Given the description of an element on the screen output the (x, y) to click on. 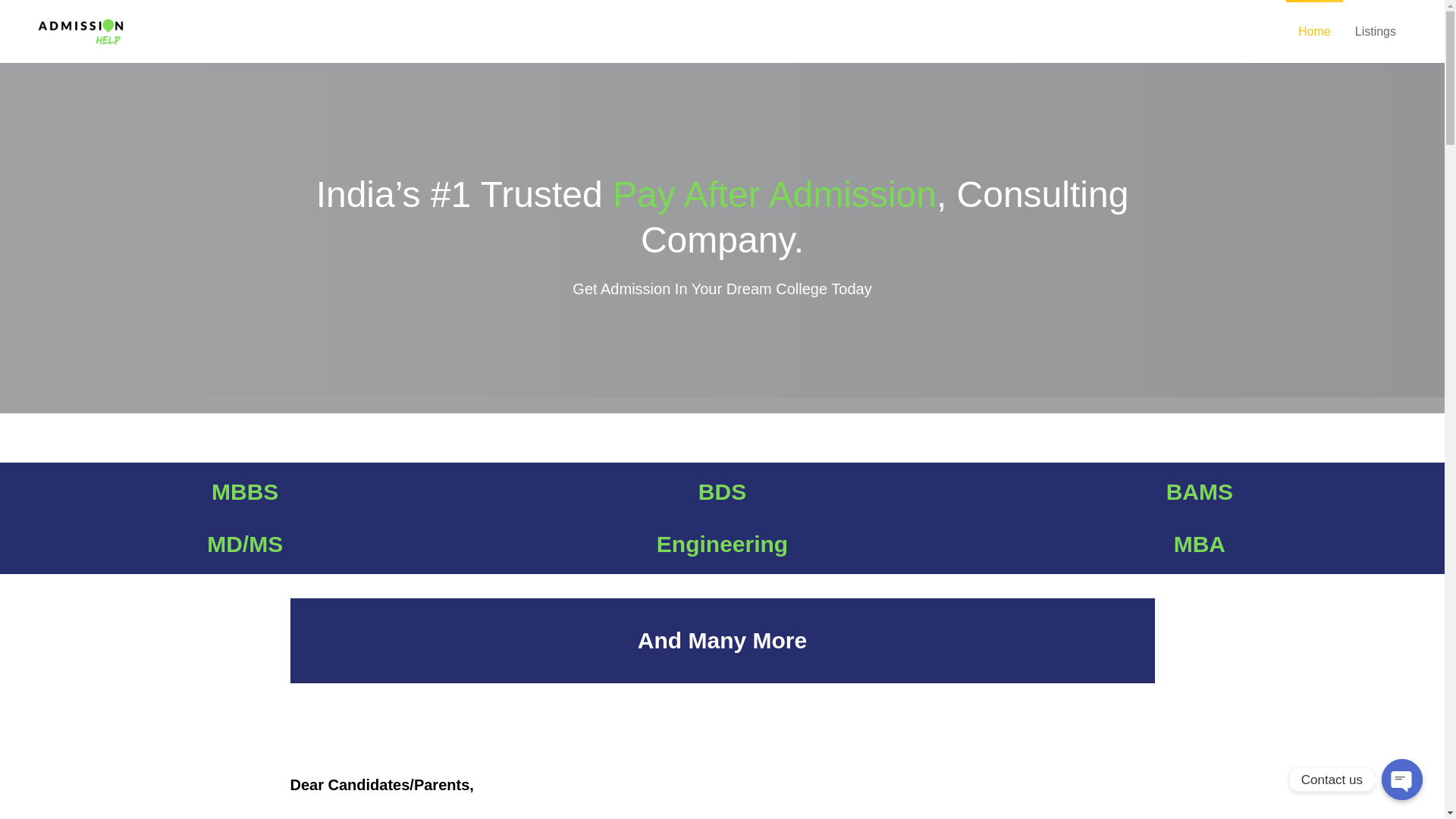
Listings (1375, 31)
Home (1314, 31)
